Given the description of an element on the screen output the (x, y) to click on. 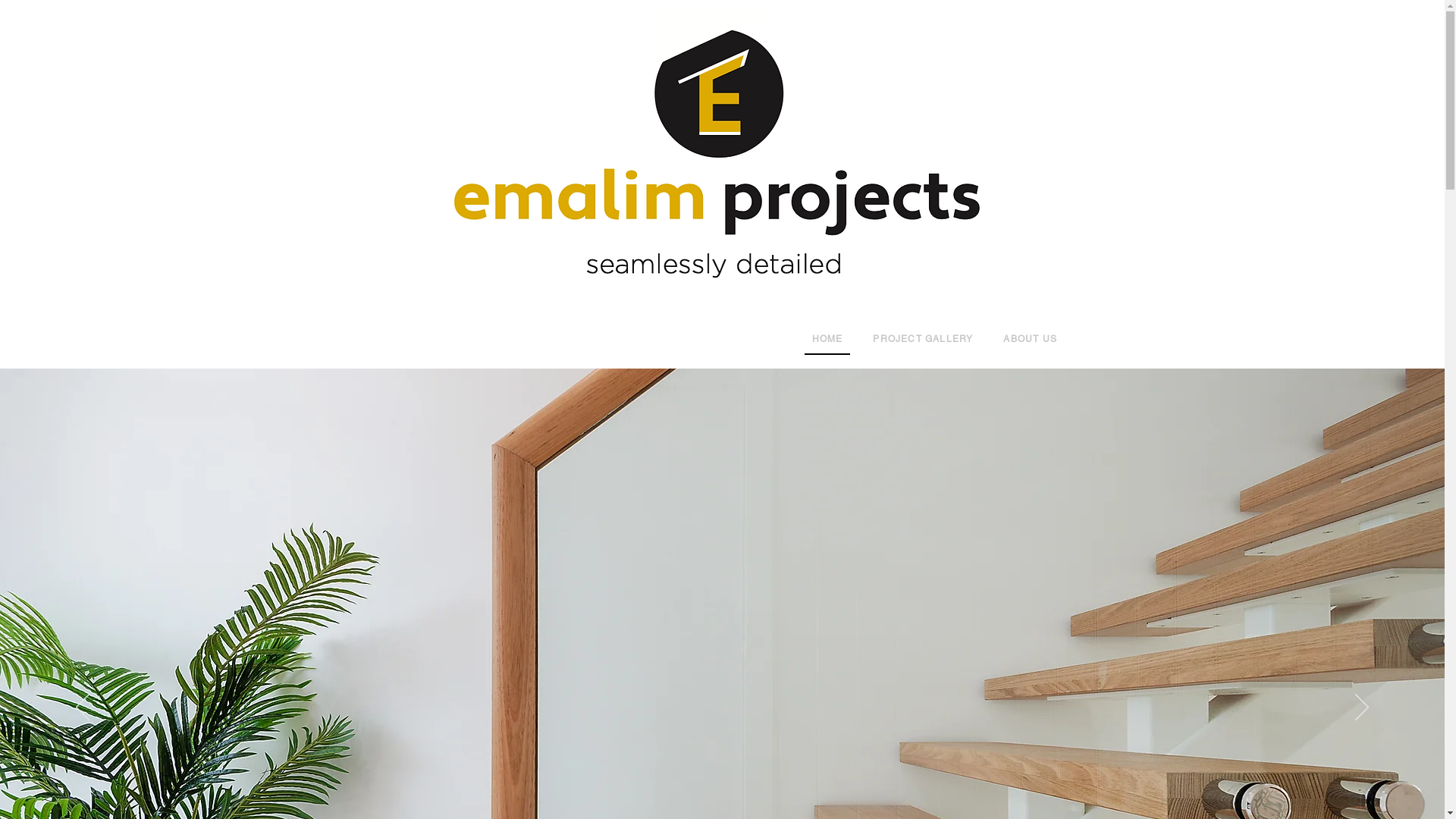
HOME Element type: text (826, 338)
ABOUT US Element type: text (1029, 338)
PROJECT GALLERY Element type: text (922, 338)
logo options copy.png Element type: hover (716, 155)
